Given the description of an element on the screen output the (x, y) to click on. 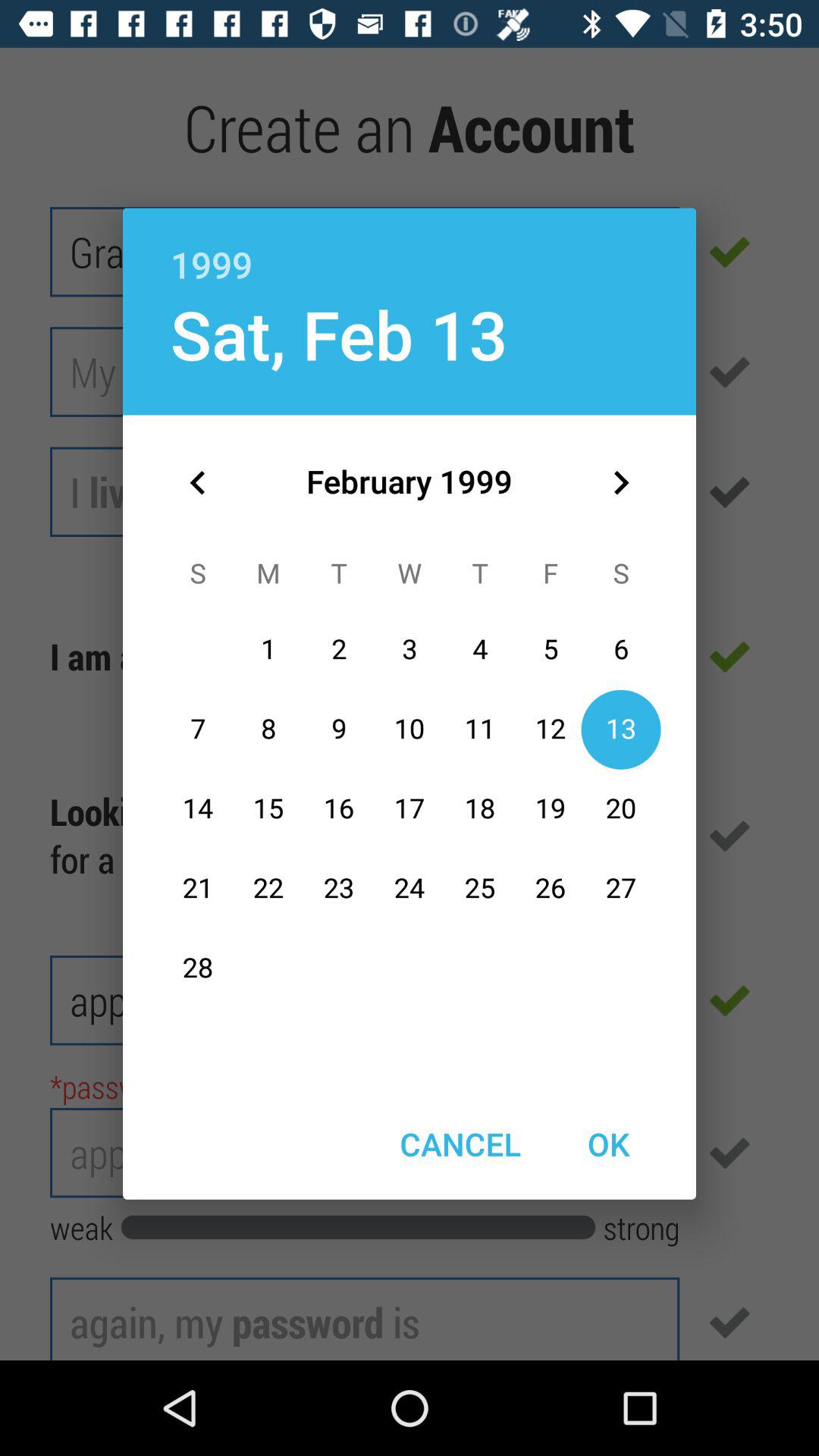
open the ok (608, 1143)
